Given the description of an element on the screen output the (x, y) to click on. 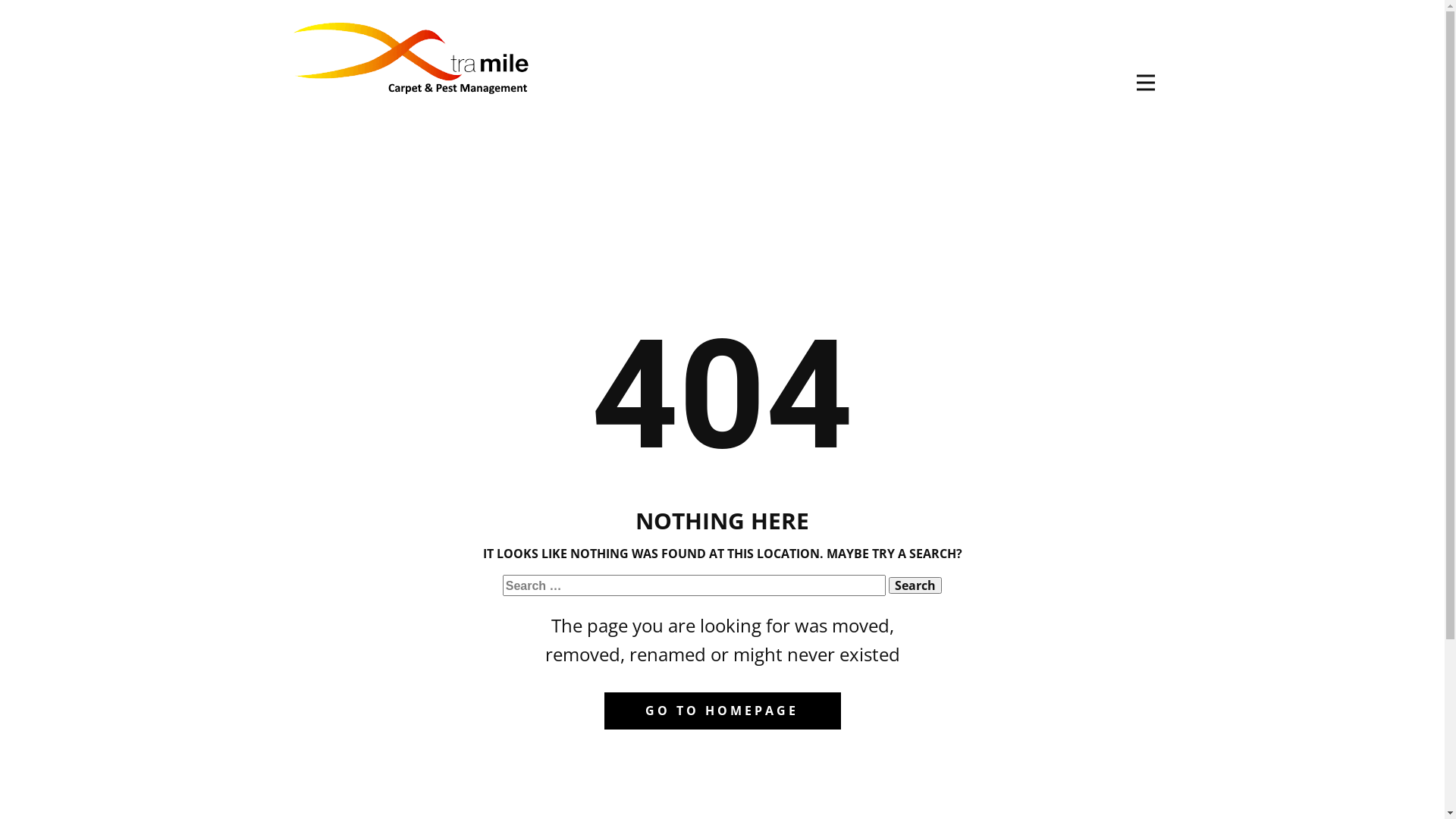
GO TO HOMEPAGE Element type: text (721, 711)
Home Element type: hover (409, 55)
Search Element type: text (914, 585)
